Given the description of an element on the screen output the (x, y) to click on. 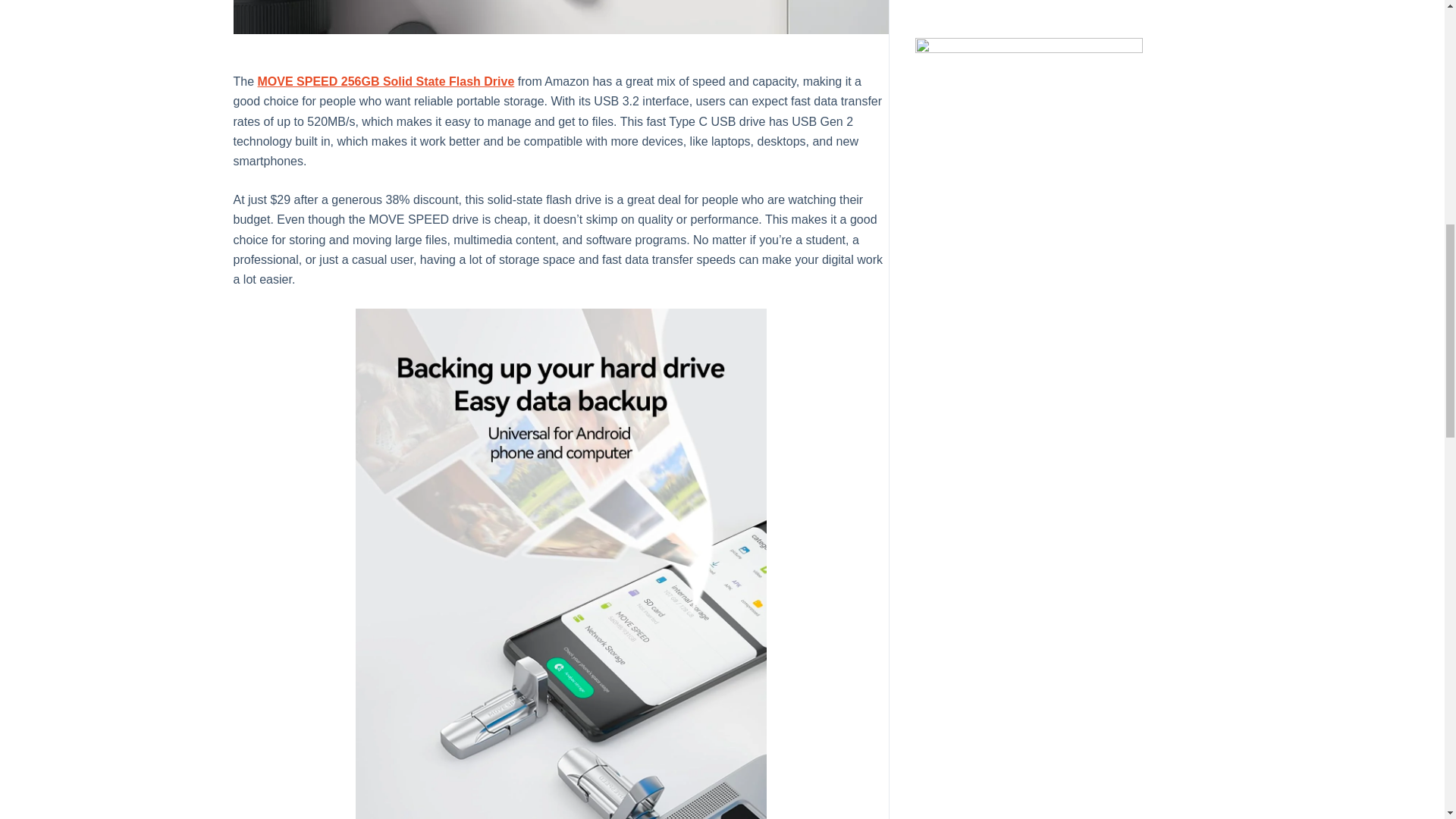
MOVE SPEED 256GB Solid State Flash Drive (386, 81)
